Given the description of an element on the screen output the (x, y) to click on. 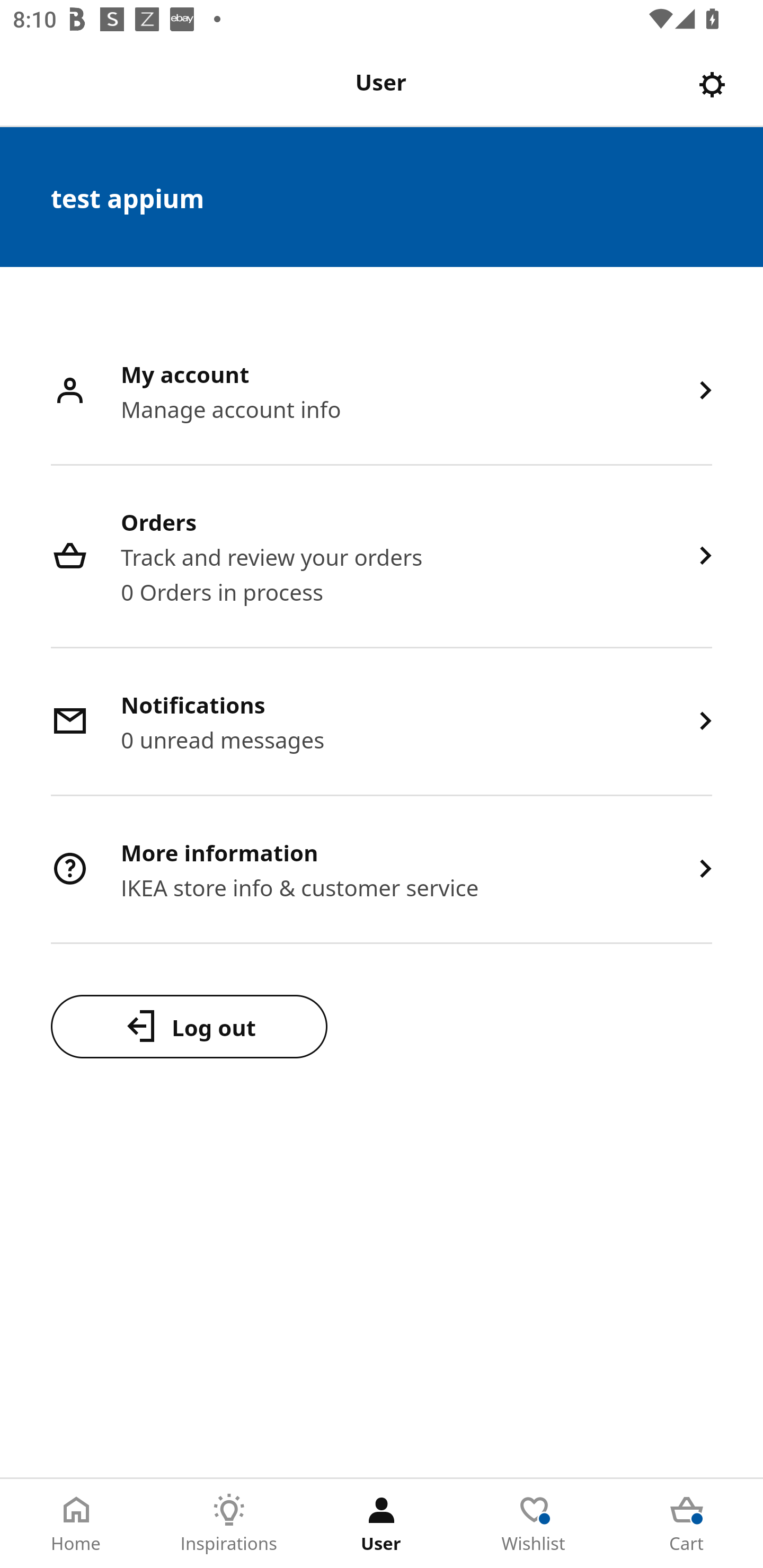
My account
Manage account info (381, 391)
Notifications
0 unread messages (381, 722)
Log out (189, 1026)
Home
Tab 1 of 5 (76, 1522)
Inspirations
Tab 2 of 5 (228, 1522)
User
Tab 3 of 5 (381, 1522)
Wishlist
Tab 4 of 5 (533, 1522)
Cart
Tab 5 of 5 (686, 1522)
